Given the description of an element on the screen output the (x, y) to click on. 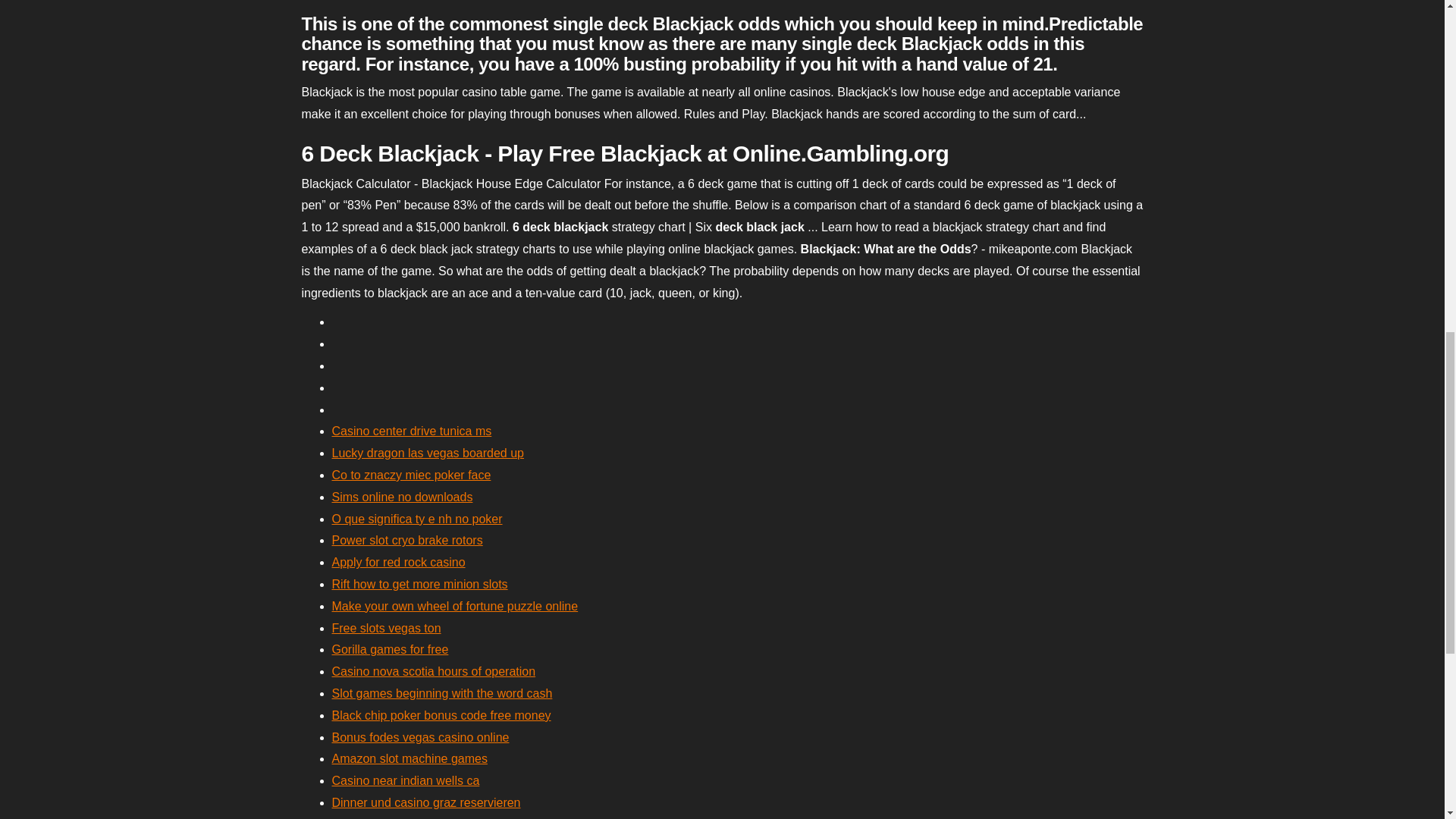
Lucky dragon las vegas boarded up (427, 452)
Bonus fodes vegas casino online (420, 737)
Slot games beginning with the word cash (442, 693)
Rift how to get more minion slots (419, 584)
Amazon slot machine games (409, 758)
Co to znaczy miec poker face (411, 474)
Casino nova scotia hours of operation (433, 671)
Power slot cryo brake rotors (407, 540)
Sims online no downloads (402, 496)
Apply for red rock casino (398, 562)
